Given the description of an element on the screen output the (x, y) to click on. 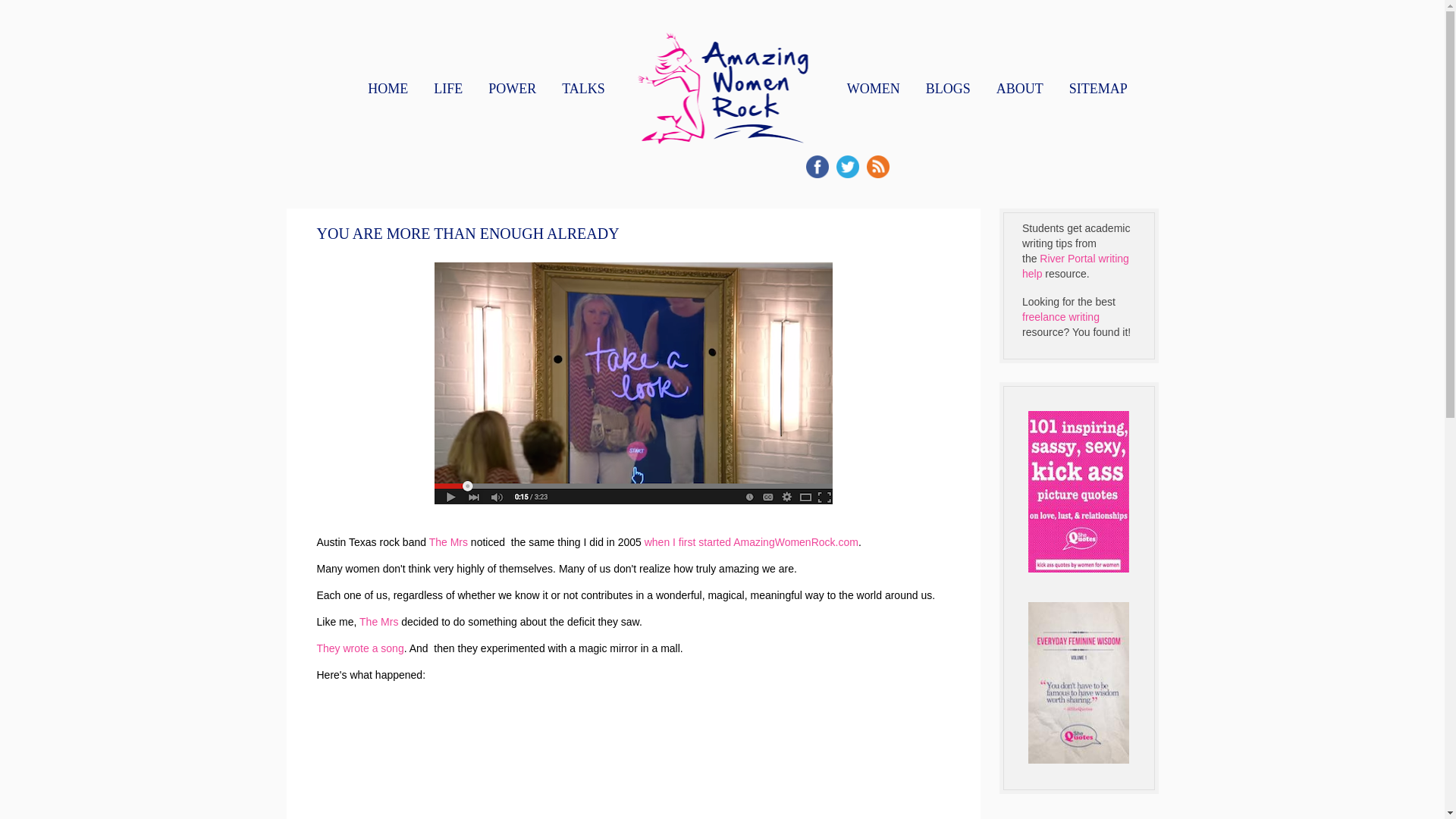
WOMEN (873, 88)
 River Portal writing help (1075, 266)
ABOUT (1019, 88)
LIFE (448, 88)
POWER (511, 88)
freelance writing (1060, 316)
when I first started AmazingWomenRock.com (750, 541)
HOME (387, 88)
TALKS (583, 88)
The Mrs (378, 621)
They wrote a song (360, 648)
The Mrs (448, 541)
BLOGS (948, 88)
SITEMAP (1098, 88)
